Given the description of an element on the screen output the (x, y) to click on. 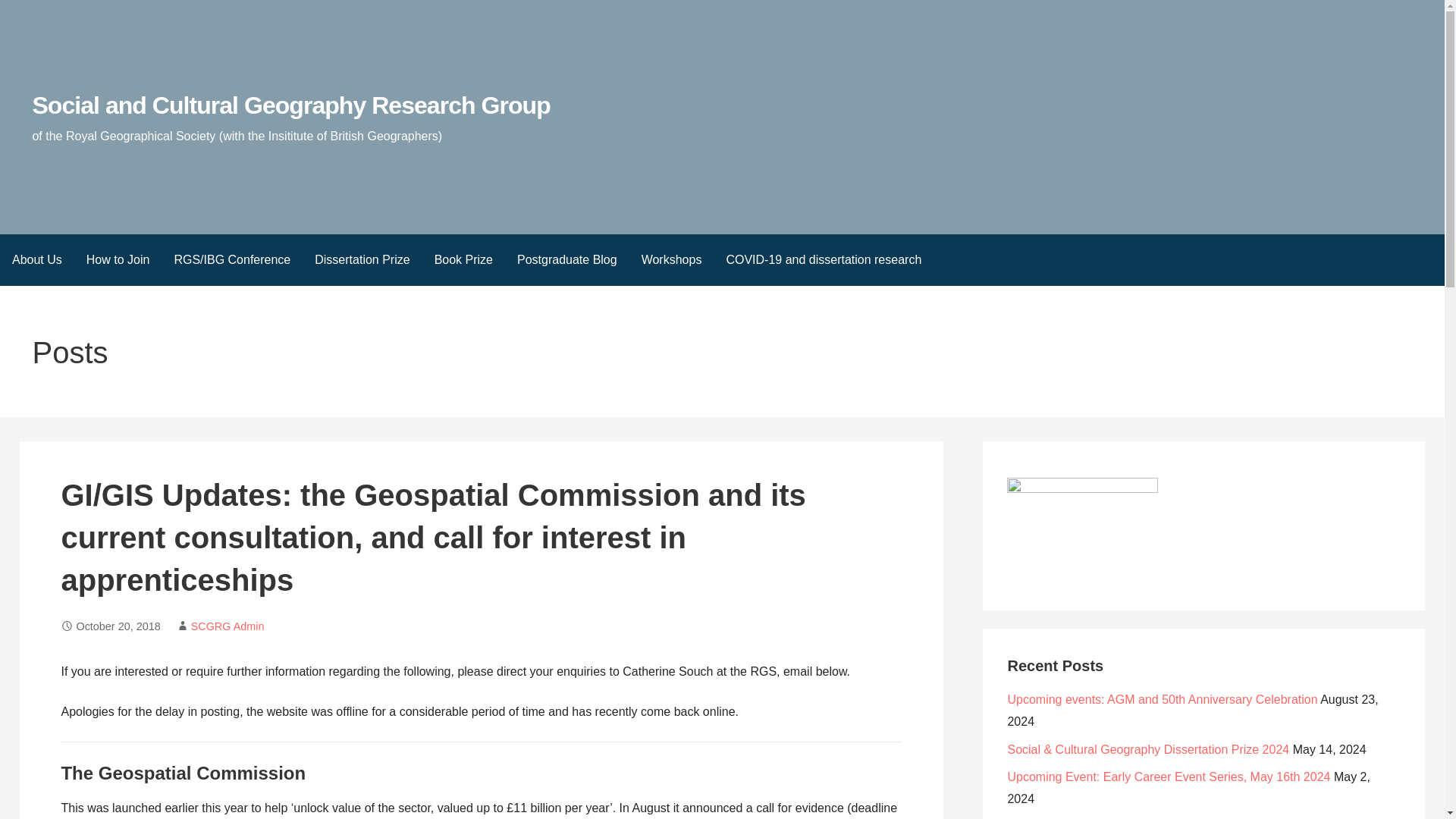
Postgraduate Blog (566, 259)
Book Prize (463, 259)
SCGRG Admin (227, 625)
COVID-19 and dissertation research (823, 259)
Workshops (671, 259)
About Us (37, 259)
Upcoming events: AGM and 50th Anniversary Celebration (1162, 698)
How to Join (117, 259)
Posts by SCGRG Admin (227, 625)
Social and Cultural Geography Research Group (291, 104)
